Given the description of an element on the screen output the (x, y) to click on. 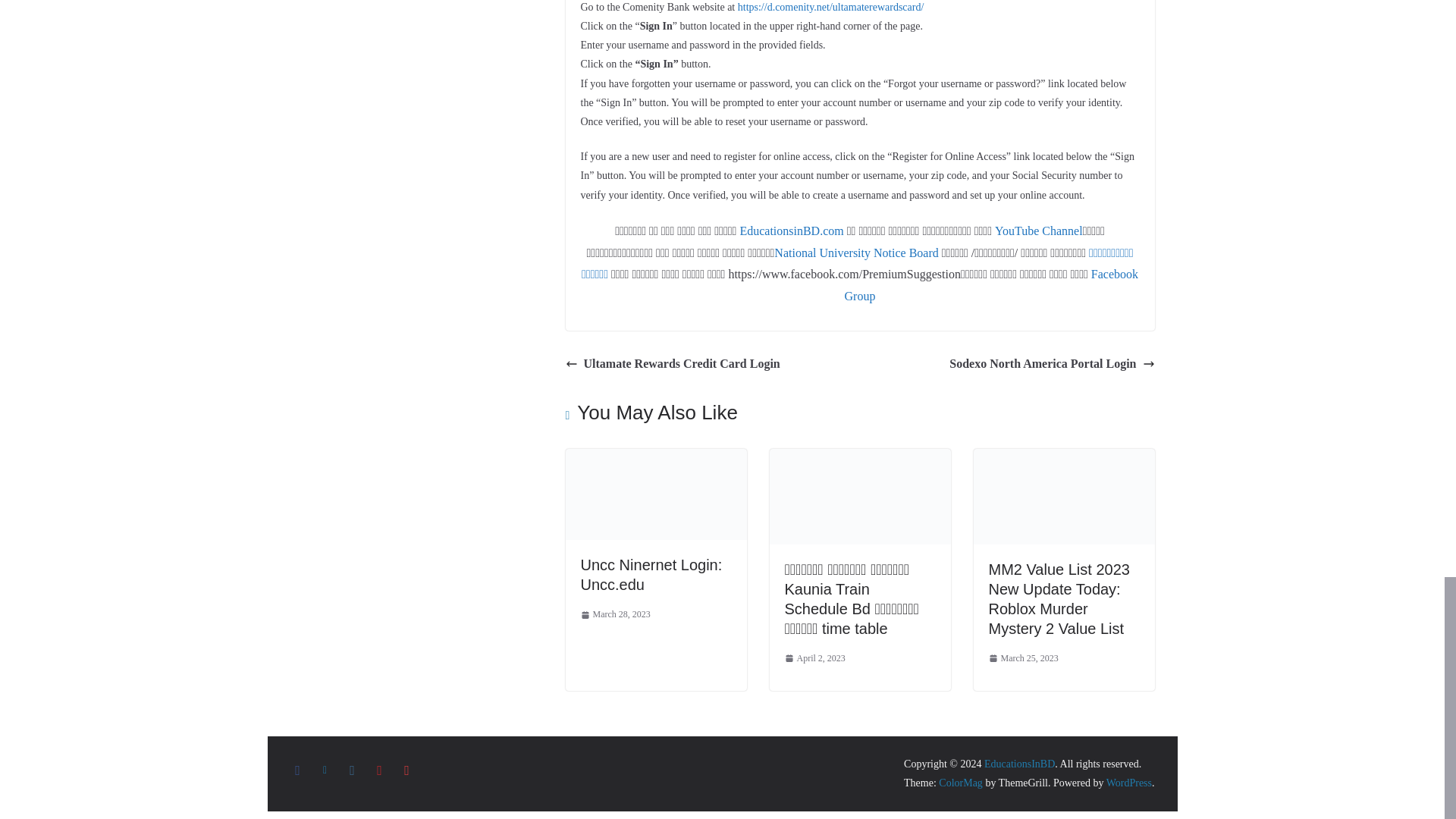
Uncc Ninernet Login: Uncc.edu 2 (656, 493)
March 28, 2023 (615, 614)
Uncc Ninernet Login: Uncc.edu (651, 574)
YouTube Channel (1038, 230)
Uncc Ninernet Login: Uncc.edu (656, 459)
10:35 PM (814, 658)
National University Notice Board (857, 252)
Ultamate Rewards Credit Card Login (673, 363)
Sodexo North America Portal Login (1051, 363)
April 2, 2023 (814, 658)
